Given the description of an element on the screen output the (x, y) to click on. 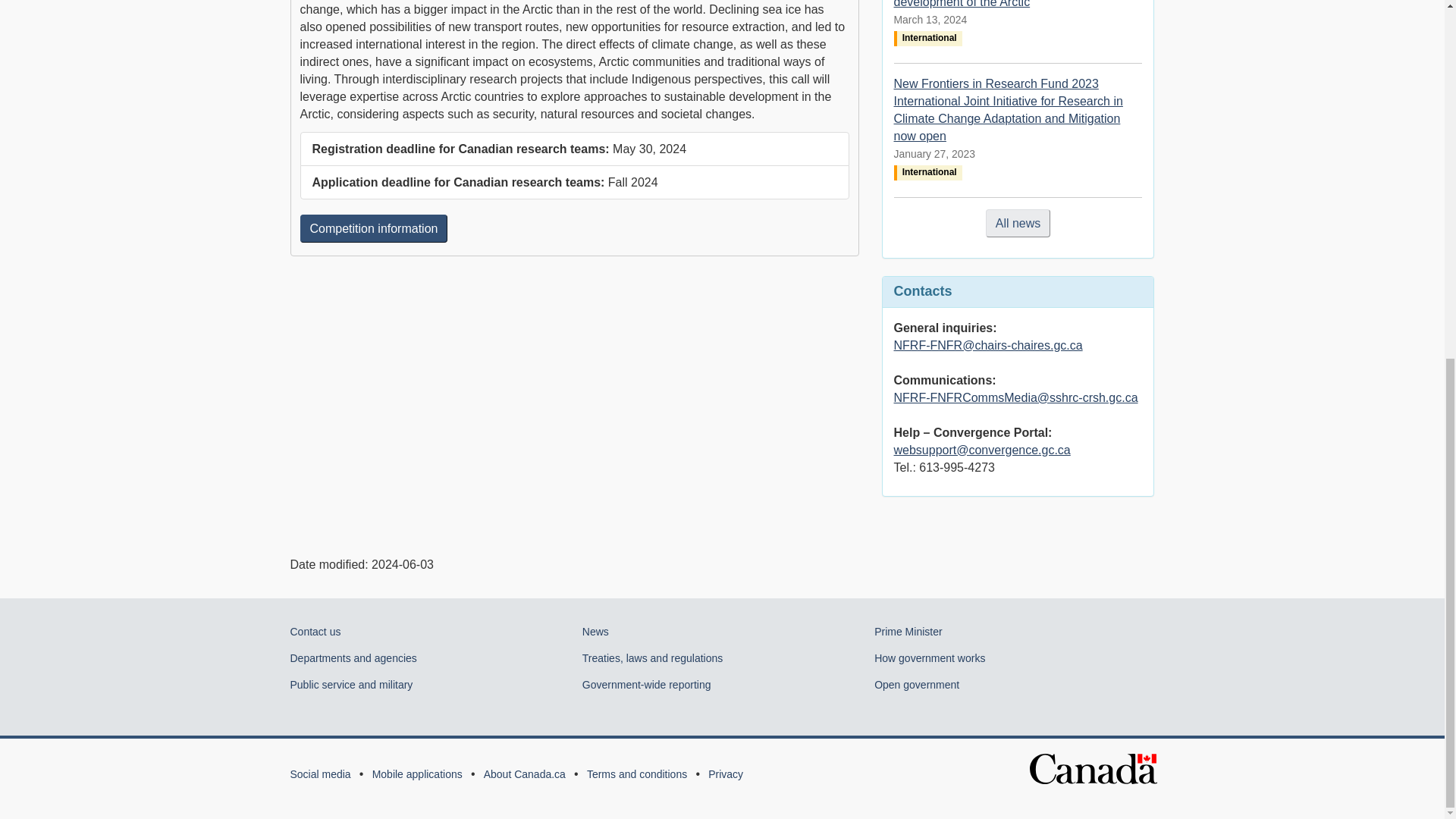
Competition information (373, 228)
All news (1018, 223)
